Given the description of an element on the screen output the (x, y) to click on. 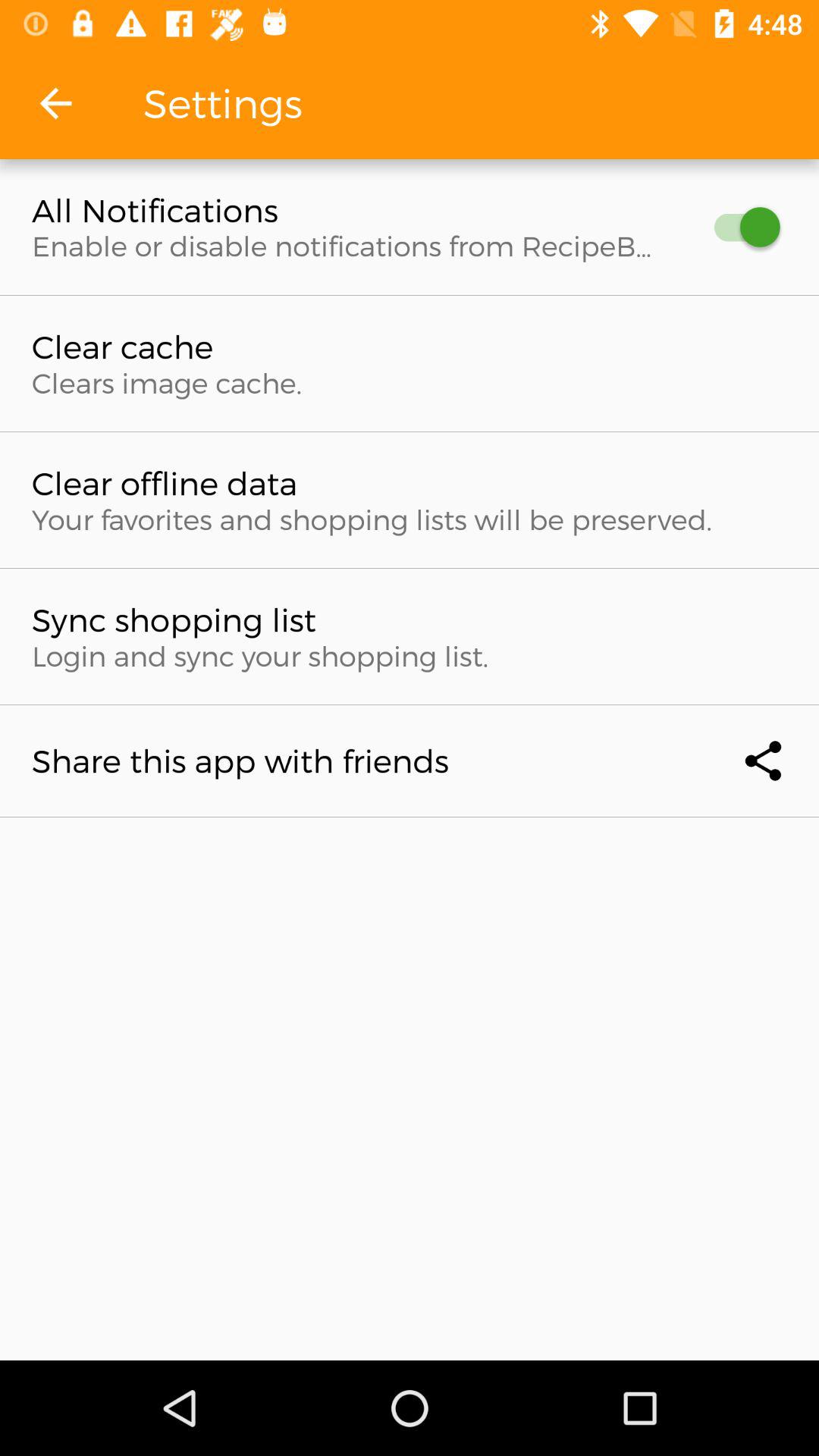
toggle notification activation (739, 227)
